Given the description of an element on the screen output the (x, y) to click on. 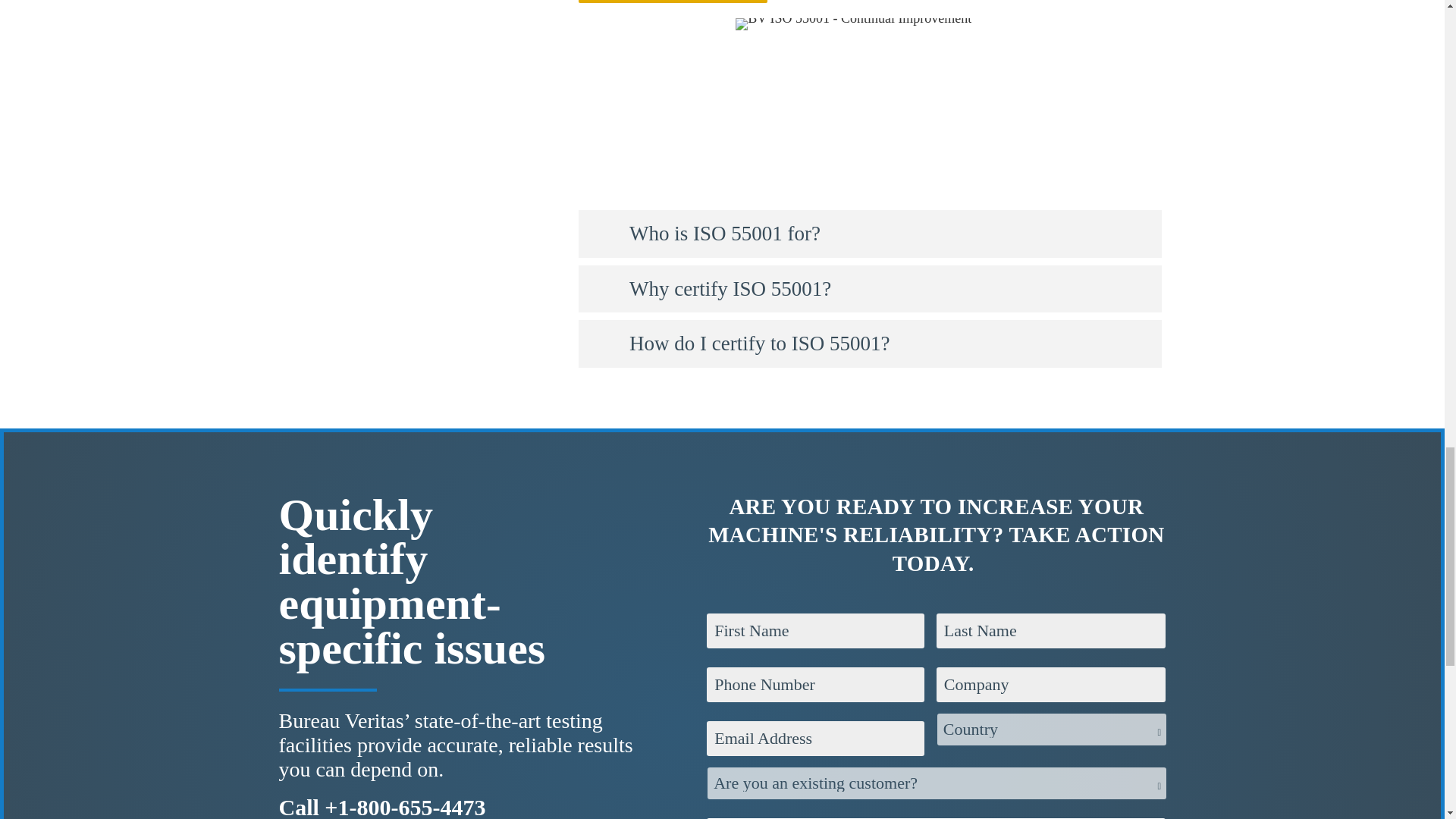
BV ISO 55001 - Continual Improvement (853, 24)
